Given the description of an element on the screen output the (x, y) to click on. 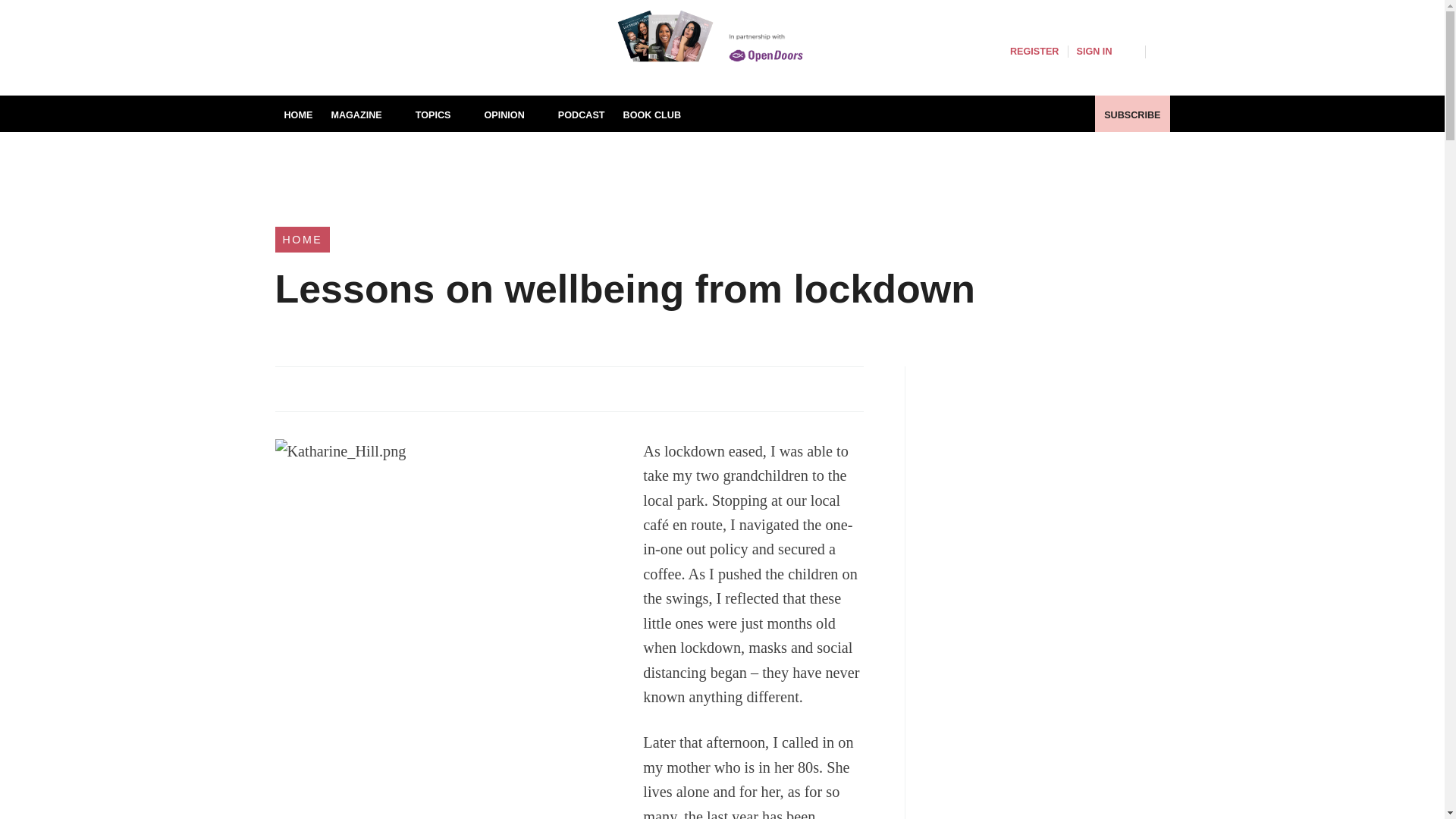
Share this on Linked in (352, 388)
Share this on Facebook (288, 388)
Share this on Twitter (320, 388)
SEARCH (1161, 50)
SIGN IN (1106, 51)
REGISTER (1034, 51)
Email this article (386, 388)
Site name (418, 66)
